Given the description of an element on the screen output the (x, y) to click on. 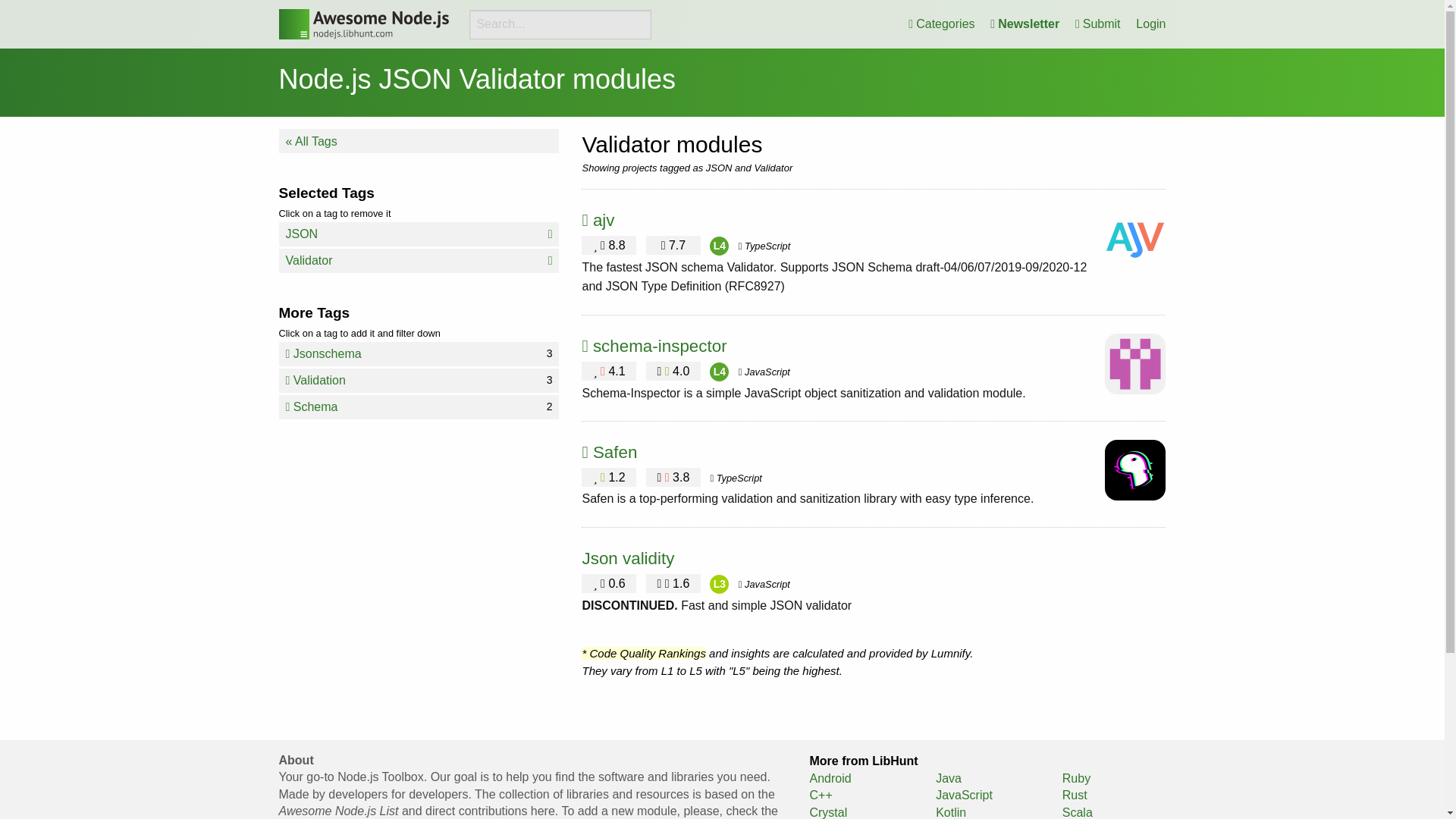
Primary programming language (418, 380)
Primary programming language (735, 478)
Code Quality Rank provided by Lumnify (764, 371)
Categories (719, 371)
Validator (941, 24)
Submit (418, 260)
Awesome Node.js (1098, 24)
Json validity (418, 406)
Primary programming language (364, 24)
schema-inspector (627, 558)
JSON (764, 583)
ajv (659, 345)
